Given the description of an element on the screen output the (x, y) to click on. 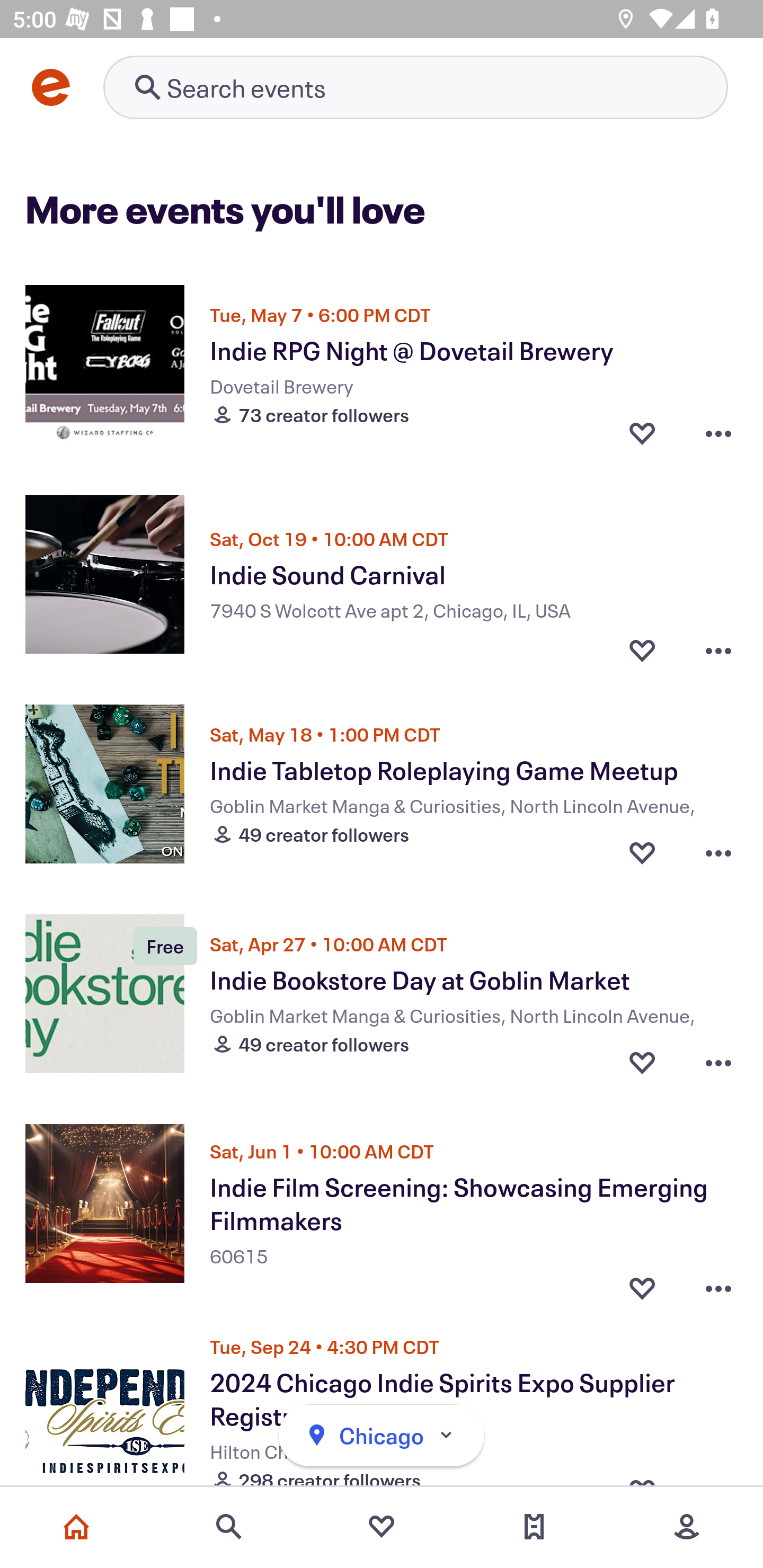
Retry's image Search events (415, 86)
Favorite button (642, 431)
Overflow menu button (718, 431)
Favorite button (642, 645)
Overflow menu button (718, 645)
Favorite button (642, 852)
Overflow menu button (718, 852)
Favorite button (642, 1062)
Overflow menu button (718, 1062)
Favorite button (642, 1279)
Overflow menu button (718, 1279)
Chicago (381, 1435)
Home (76, 1526)
Search events (228, 1526)
Favorites (381, 1526)
Tickets (533, 1526)
More (686, 1526)
